Given the description of an element on the screen output the (x, y) to click on. 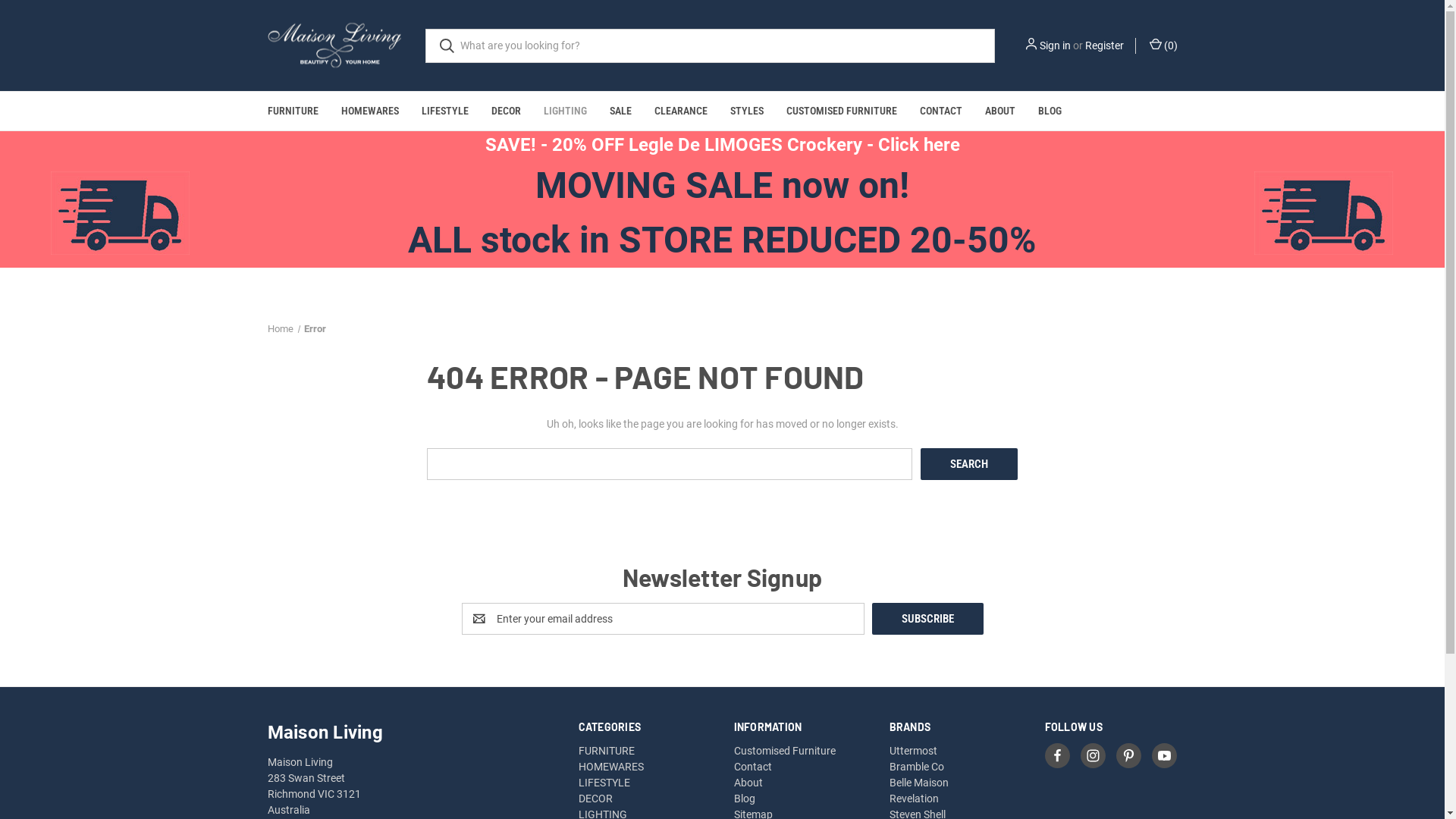
CONTACT Element type: text (940, 110)
SAVE! - 20% OFF Legle De LIMOGES Crockery - Click here Element type: text (722, 144)
LIFESTYLE Element type: text (604, 782)
Revelation Element type: text (913, 798)
FURNITURE Element type: text (606, 750)
LIFESTYLE Element type: text (444, 110)
HOMEWARES Element type: text (369, 110)
BLOG Element type: text (1049, 110)
Error Element type: text (315, 328)
Uttermost Element type: text (913, 750)
DECOR Element type: text (595, 798)
Register Element type: text (1103, 45)
About Element type: text (748, 782)
HOMEWARES Element type: text (610, 766)
MOVING SALE now on! Element type: text (722, 185)
FURNITURE Element type: text (292, 110)
Search Element type: text (968, 463)
Customised Furniture Element type: text (784, 750)
ALL stock in STORE REDUCED 20-50% Element type: text (721, 239)
STYLES Element type: text (746, 110)
ABOUT Element type: text (999, 110)
CUSTOMISED FURNITURE Element type: text (841, 110)
CLEARANCE Element type: text (680, 110)
Home Element type: text (279, 328)
(0) Element type: text (1161, 45)
SALE Element type: text (619, 110)
Contact Element type: text (752, 766)
Blog Element type: text (744, 798)
LIGHTING Element type: text (565, 110)
Bramble Co Element type: text (916, 766)
Subscribe Element type: text (927, 618)
Belle Maison Element type: text (918, 782)
Sign in Element type: text (1054, 45)
Maison Living Element type: hover (333, 45)
DECOR Element type: text (505, 110)
